Given the description of an element on the screen output the (x, y) to click on. 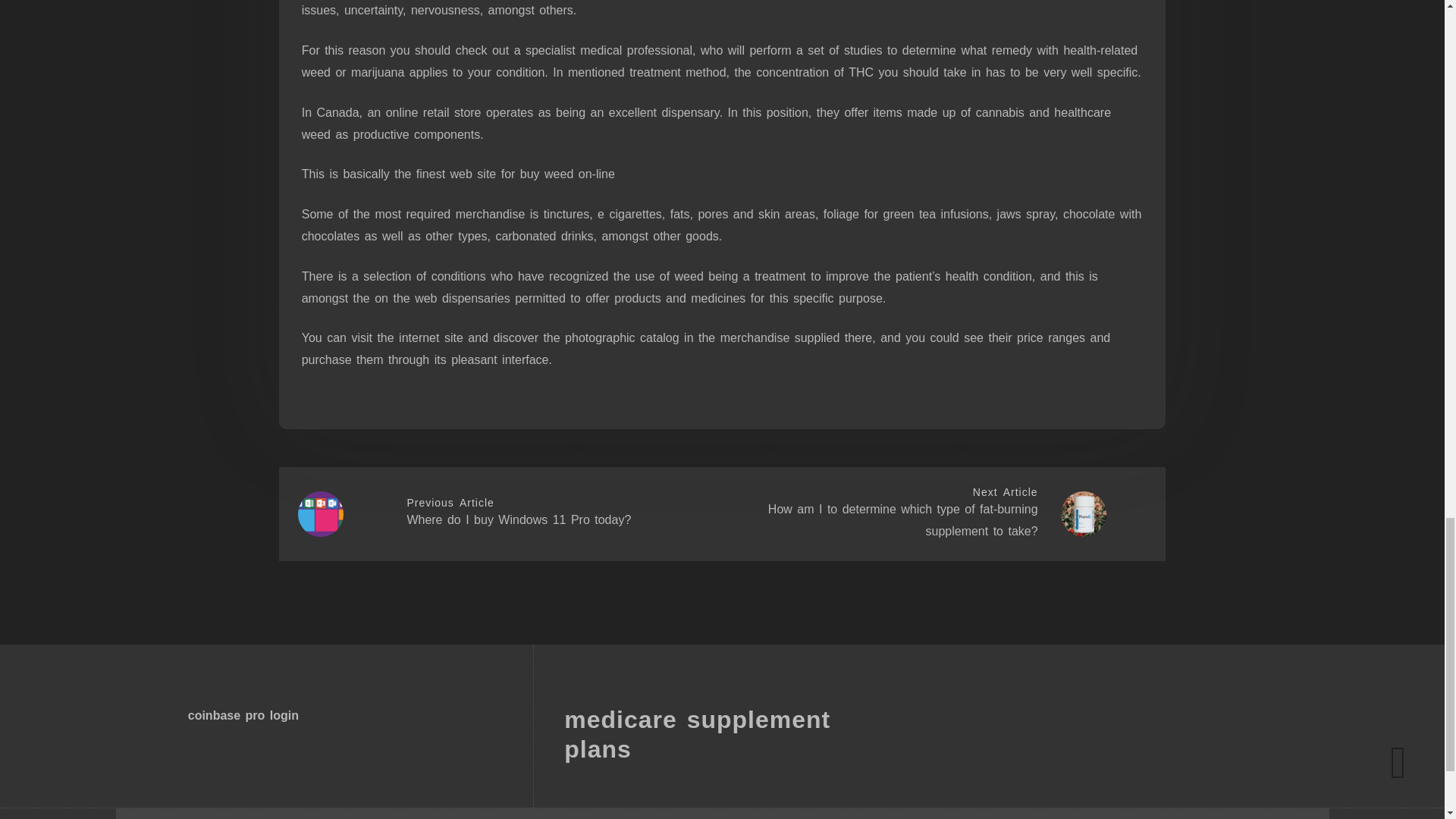
coinbase pro login (242, 715)
Where do I buy Windows 11 Pro today? (518, 519)
medicare supplement plans (696, 733)
